Given the description of an element on the screen output the (x, y) to click on. 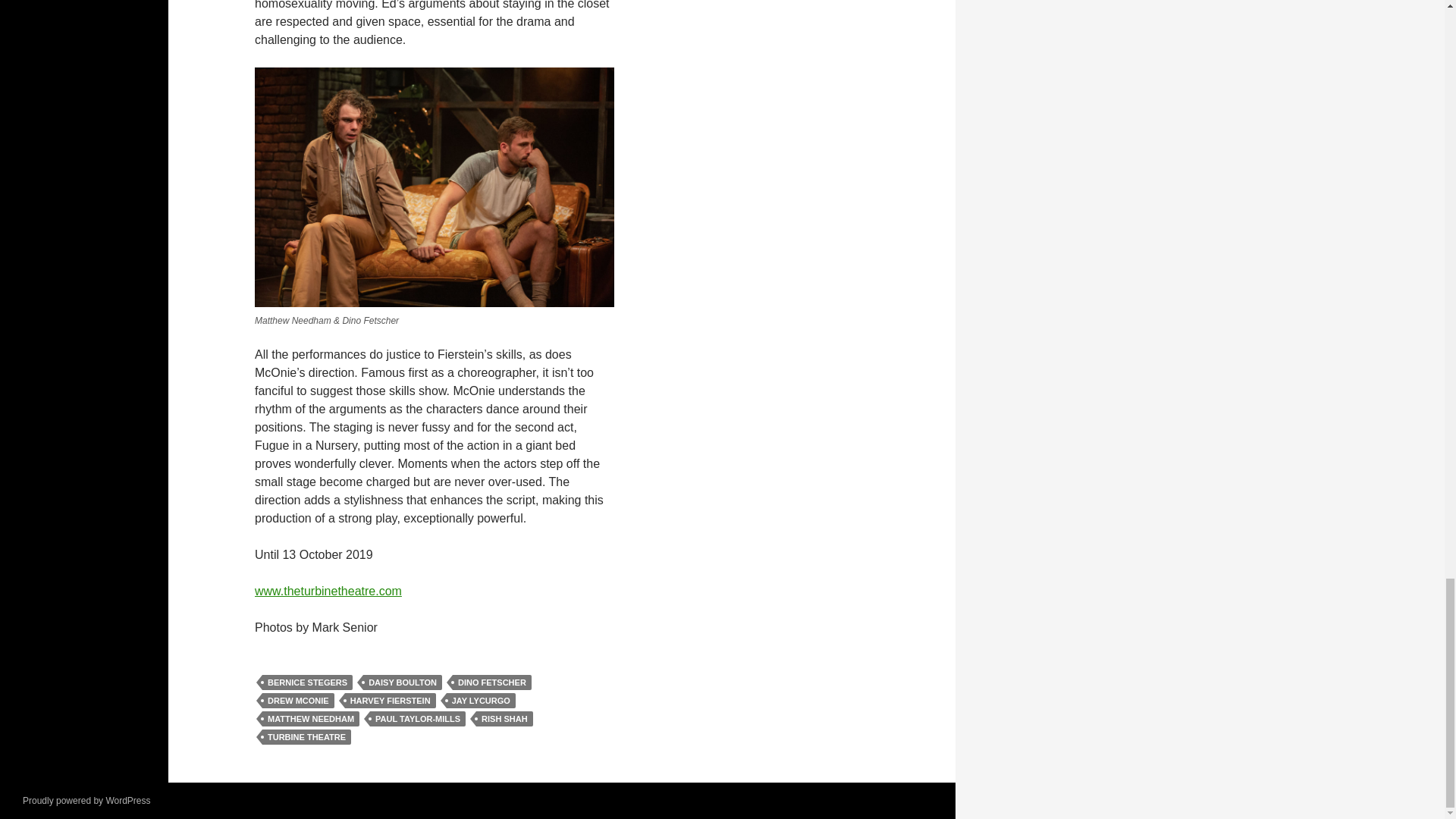
DREW MCONIE (298, 700)
JAY LYCURGO (480, 700)
PAUL TAYLOR-MILLS (417, 718)
HARVEY FIERSTEIN (390, 700)
TURBINE THEATRE (306, 736)
DAISY BOULTON (402, 682)
BERNICE STEGERS (307, 682)
DINO FETSCHER (491, 682)
MATTHEW NEEDHAM (310, 718)
www.theturbinetheatre.com (327, 590)
RISH SHAH (504, 718)
